Given the description of an element on the screen output the (x, y) to click on. 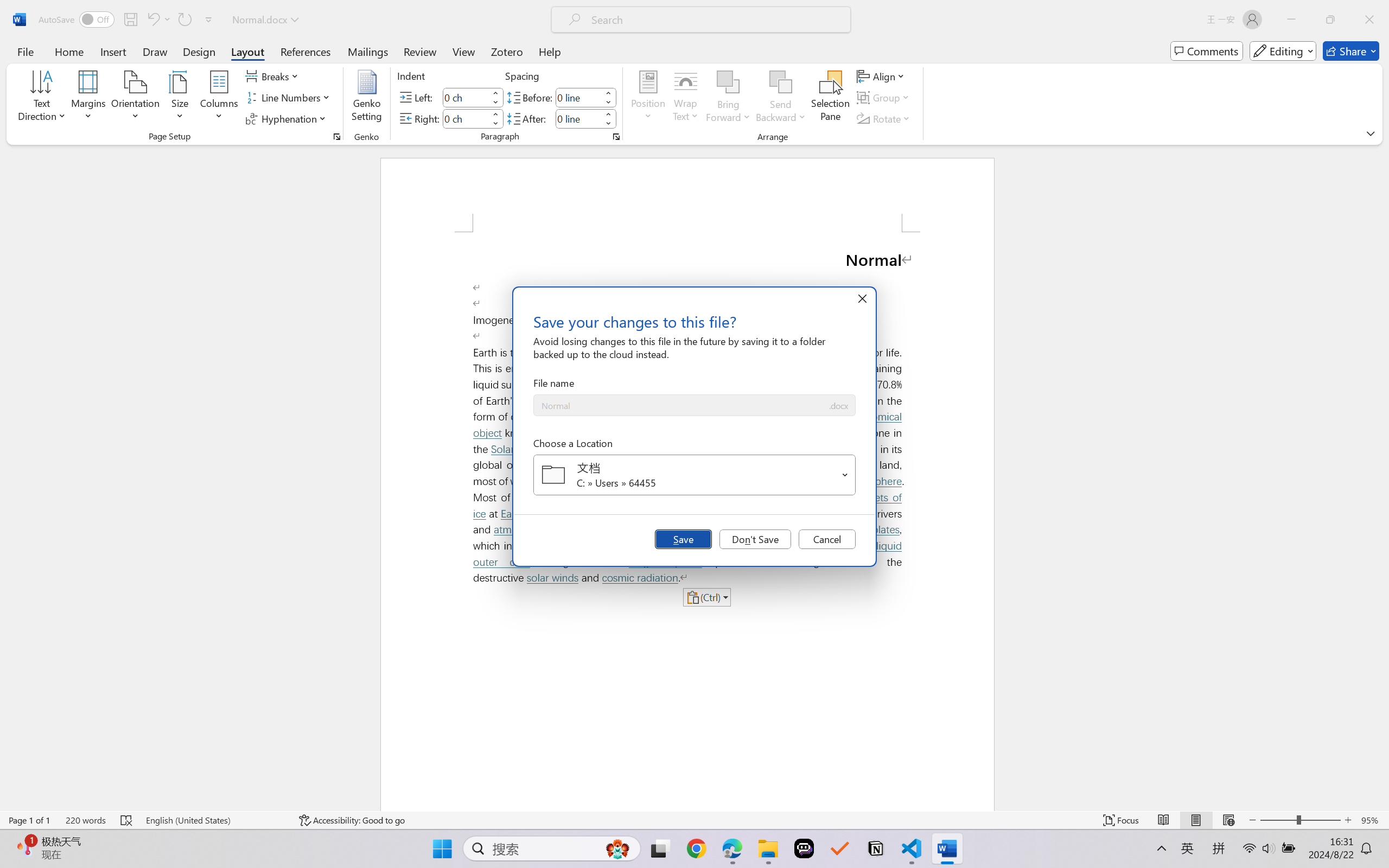
Class: MsoCommandBar (694, 819)
Orientation (135, 97)
Undo Paste Destination Formatting (158, 19)
Header -Section 1- (687, 194)
Group (884, 97)
Save as type (837, 405)
Align (881, 75)
Spelling and Grammar Check Errors (126, 819)
